Given the description of an element on the screen output the (x, y) to click on. 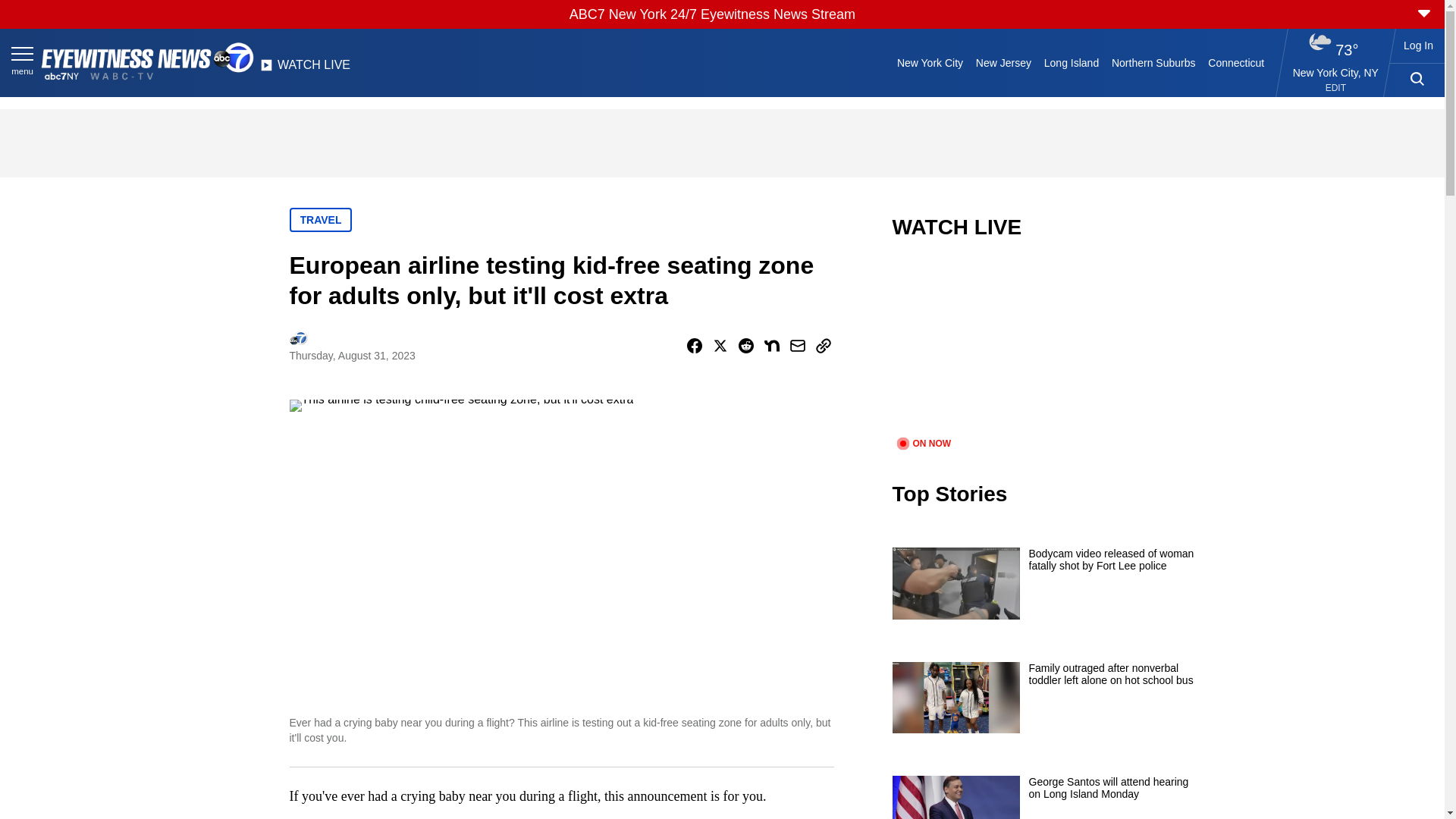
video.title (1043, 347)
New York City, NY (1335, 72)
WATCH LIVE (305, 69)
Northern Suburbs (1153, 62)
Connecticut (1236, 62)
Long Island (1070, 62)
EDIT (1334, 87)
New York City (930, 62)
New Jersey (1002, 62)
